Given the description of an element on the screen output the (x, y) to click on. 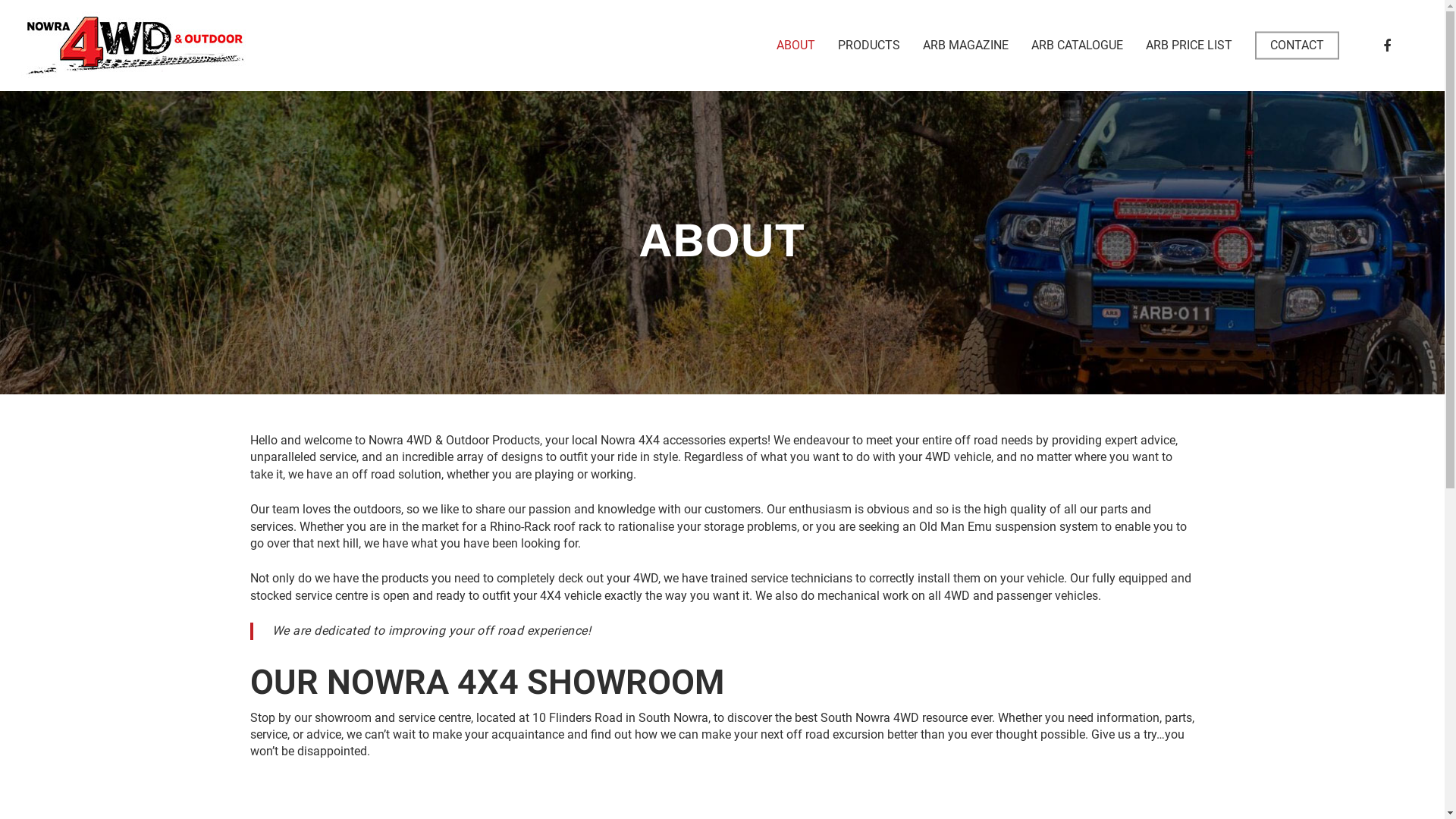
ARB CATALOGUE Element type: text (1076, 45)
ARB PRICE LIST Element type: text (1188, 45)
ARB MAGAZINE Element type: text (965, 45)
PRODUCTS Element type: text (868, 45)
CONTACT Element type: text (1297, 45)
FACEBOOK Element type: text (1386, 45)
ABOUT Element type: text (795, 45)
